Given the description of an element on the screen output the (x, y) to click on. 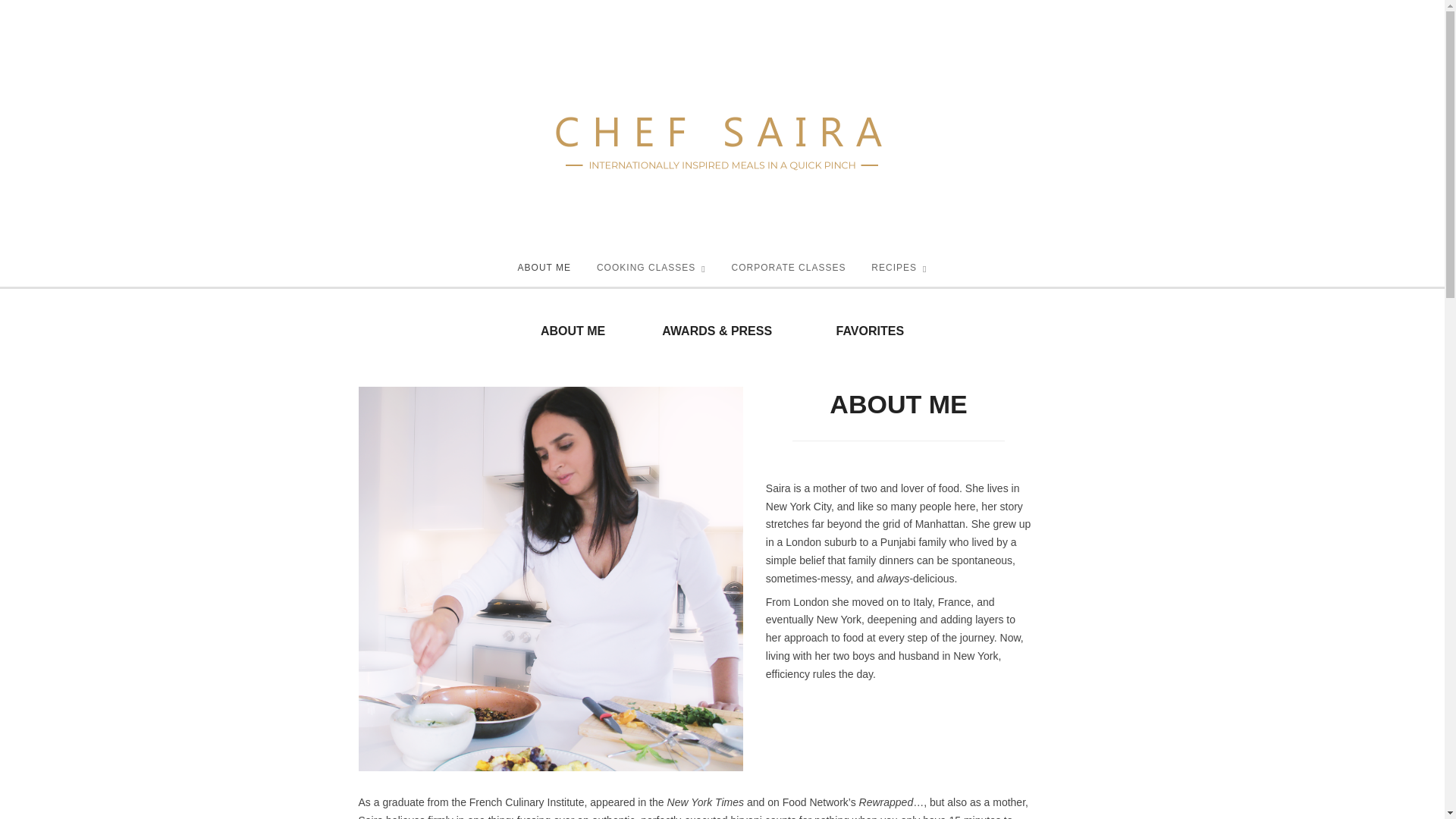
ABOUT ME (544, 267)
RECIPES (898, 267)
COOKING CLASSES (651, 267)
 FAVORITES (868, 330)
CORPORATE CLASSES (788, 267)
ABOUT ME   (575, 330)
